Given the description of an element on the screen output the (x, y) to click on. 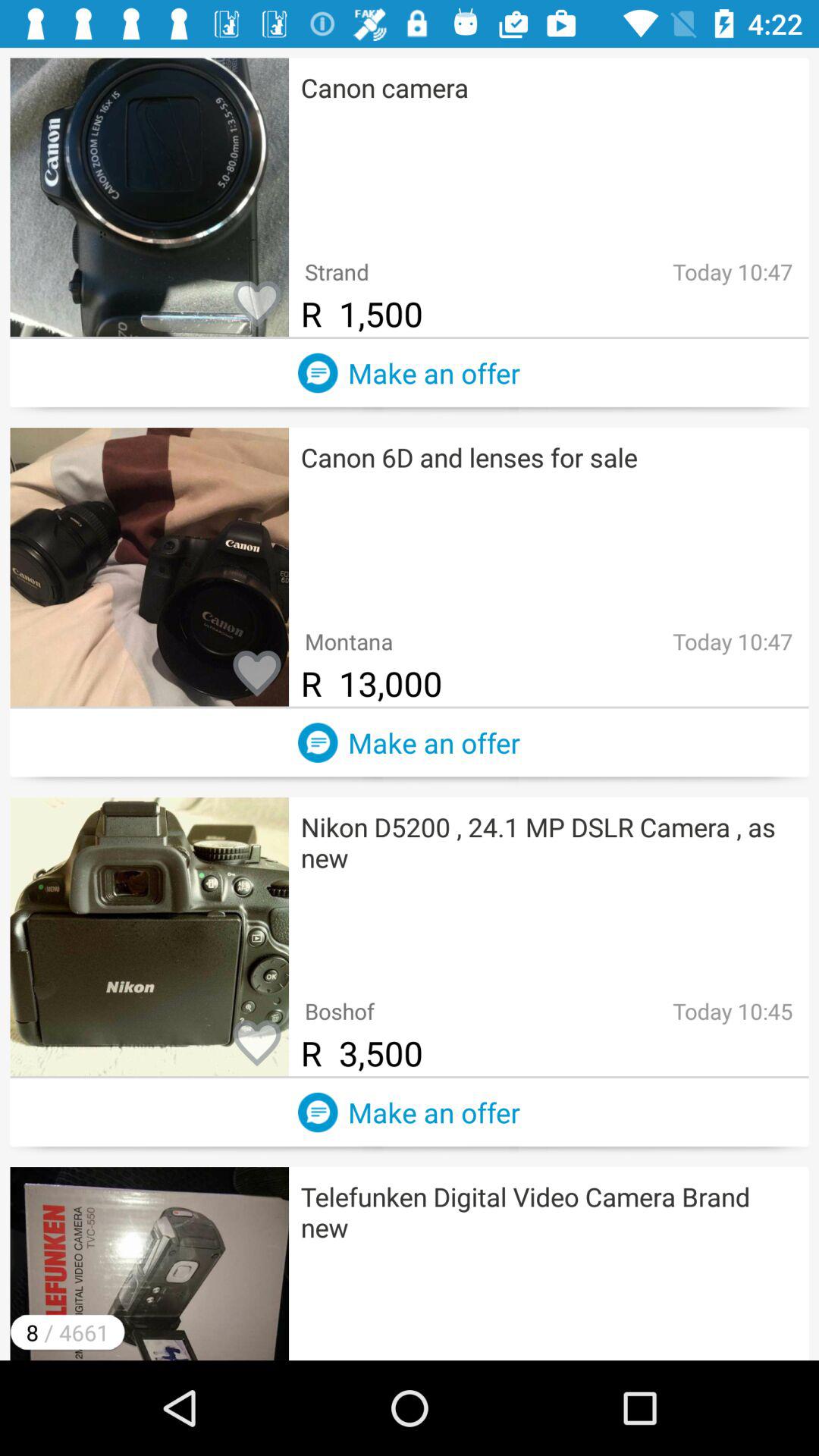
make an offer option (317, 1112)
